Given the description of an element on the screen output the (x, y) to click on. 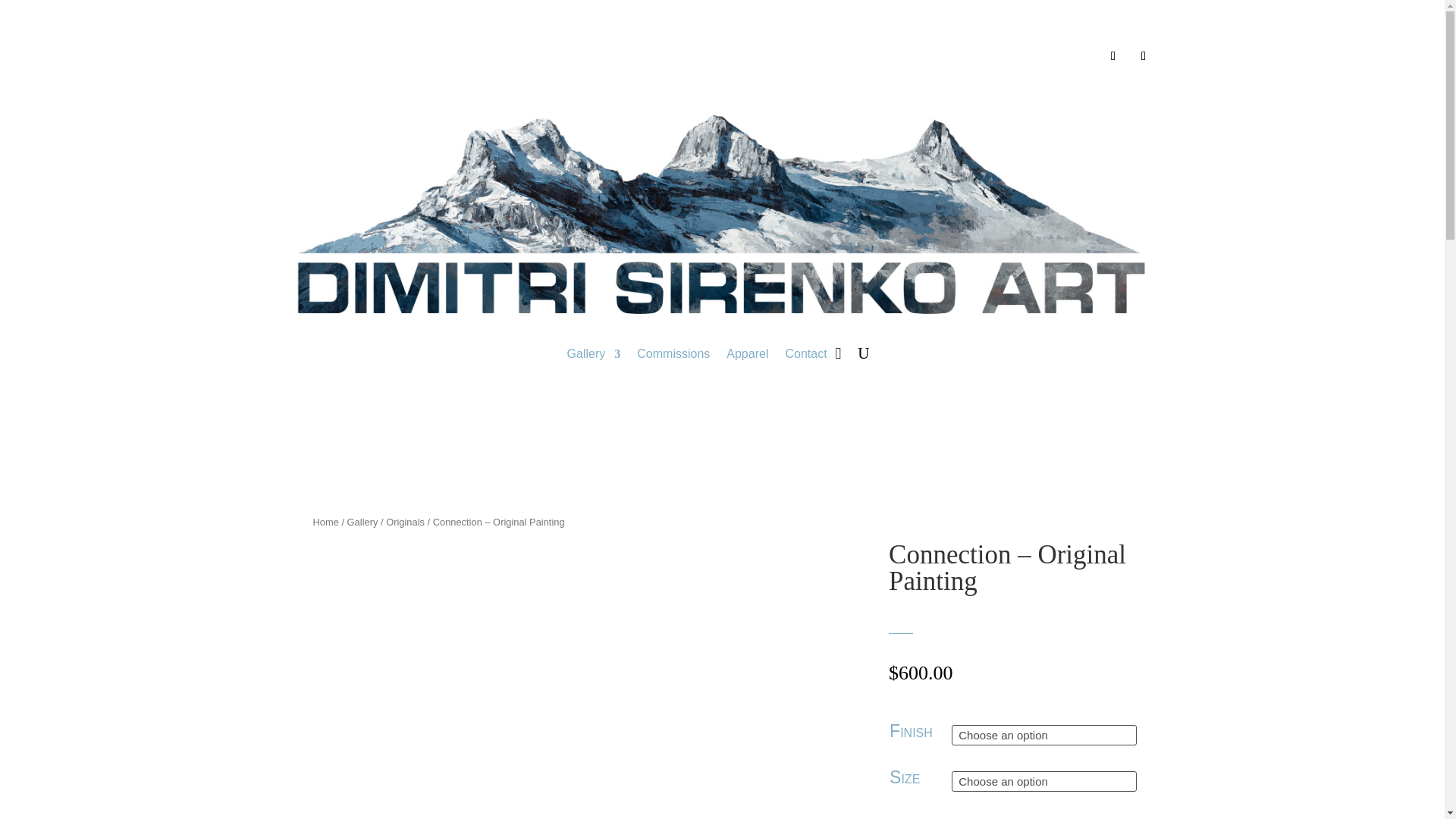
Follow on Instagram (1143, 55)
Home (325, 521)
Follow on Facebook (1112, 55)
Originals (405, 521)
Commissions (673, 354)
Gallery (594, 354)
Gallery (362, 521)
